Given the description of an element on the screen output the (x, y) to click on. 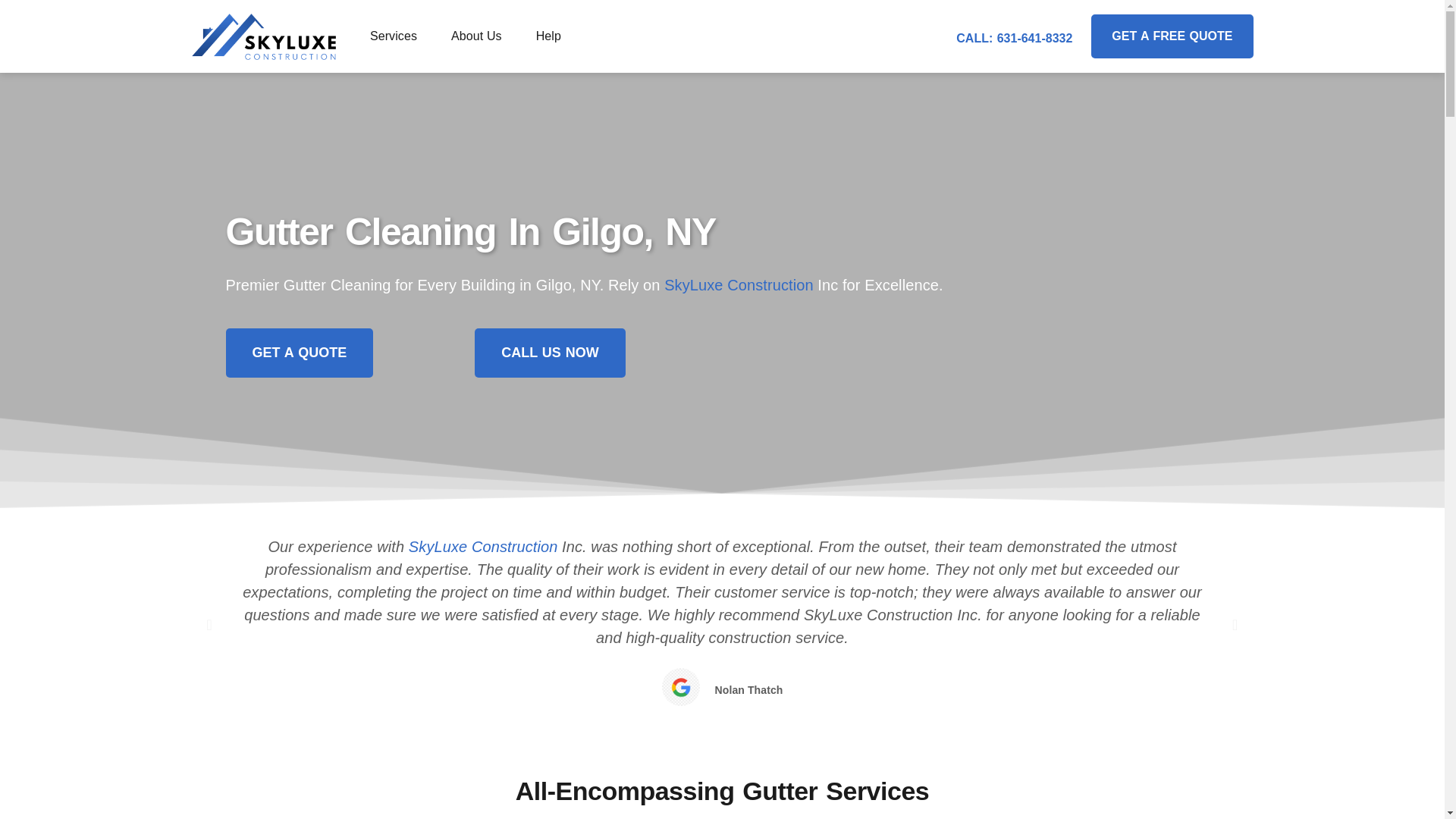
Home (483, 546)
About Us (476, 36)
Home (738, 284)
Services (392, 36)
